Given the description of an element on the screen output the (x, y) to click on. 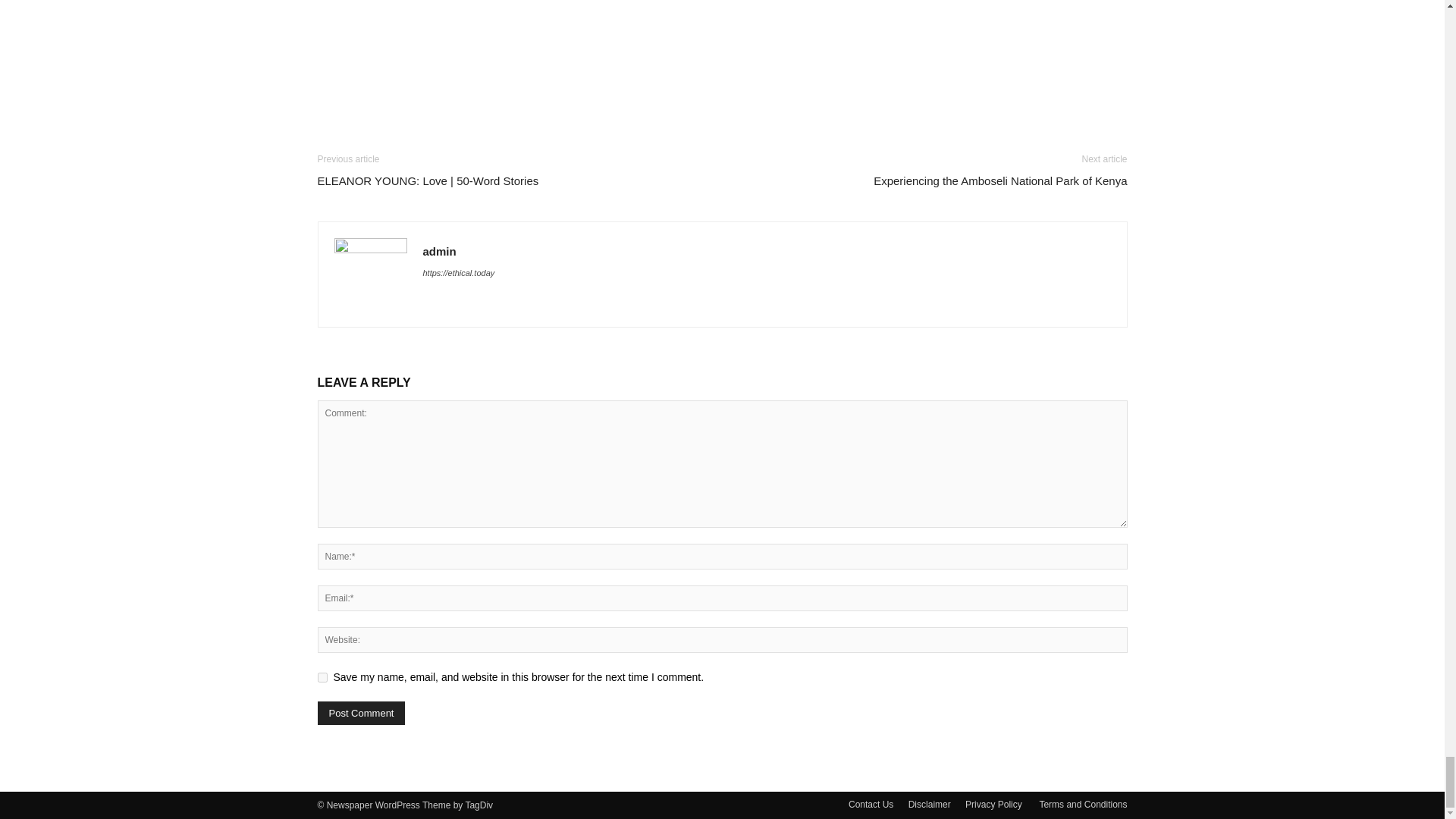
Post Comment (360, 712)
yes (321, 677)
